Given the description of an element on the screen output the (x, y) to click on. 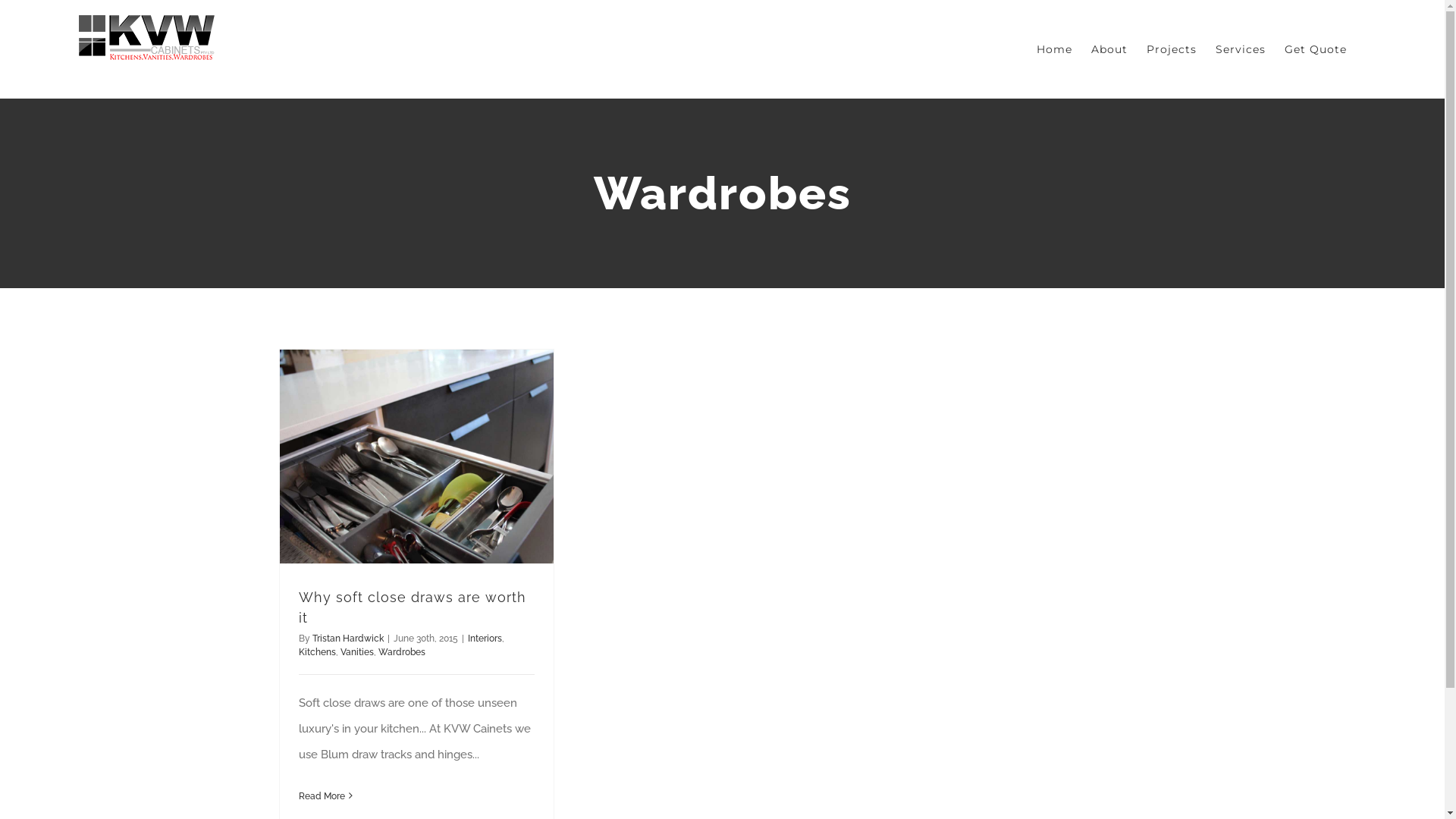
Kitchens Element type: text (316, 651)
About Element type: text (1109, 49)
Wardrobes Element type: text (400, 651)
Why soft close draws are worth it Element type: text (412, 607)
Get Quote Element type: text (1315, 49)
Home Element type: text (1054, 49)
Interiors Element type: text (484, 638)
Services Element type: text (1240, 49)
Projects Element type: text (1171, 49)
Tristan Hardwick Element type: text (347, 638)
Vanities Element type: text (356, 651)
Read More Element type: text (321, 795)
